Given the description of an element on the screen output the (x, y) to click on. 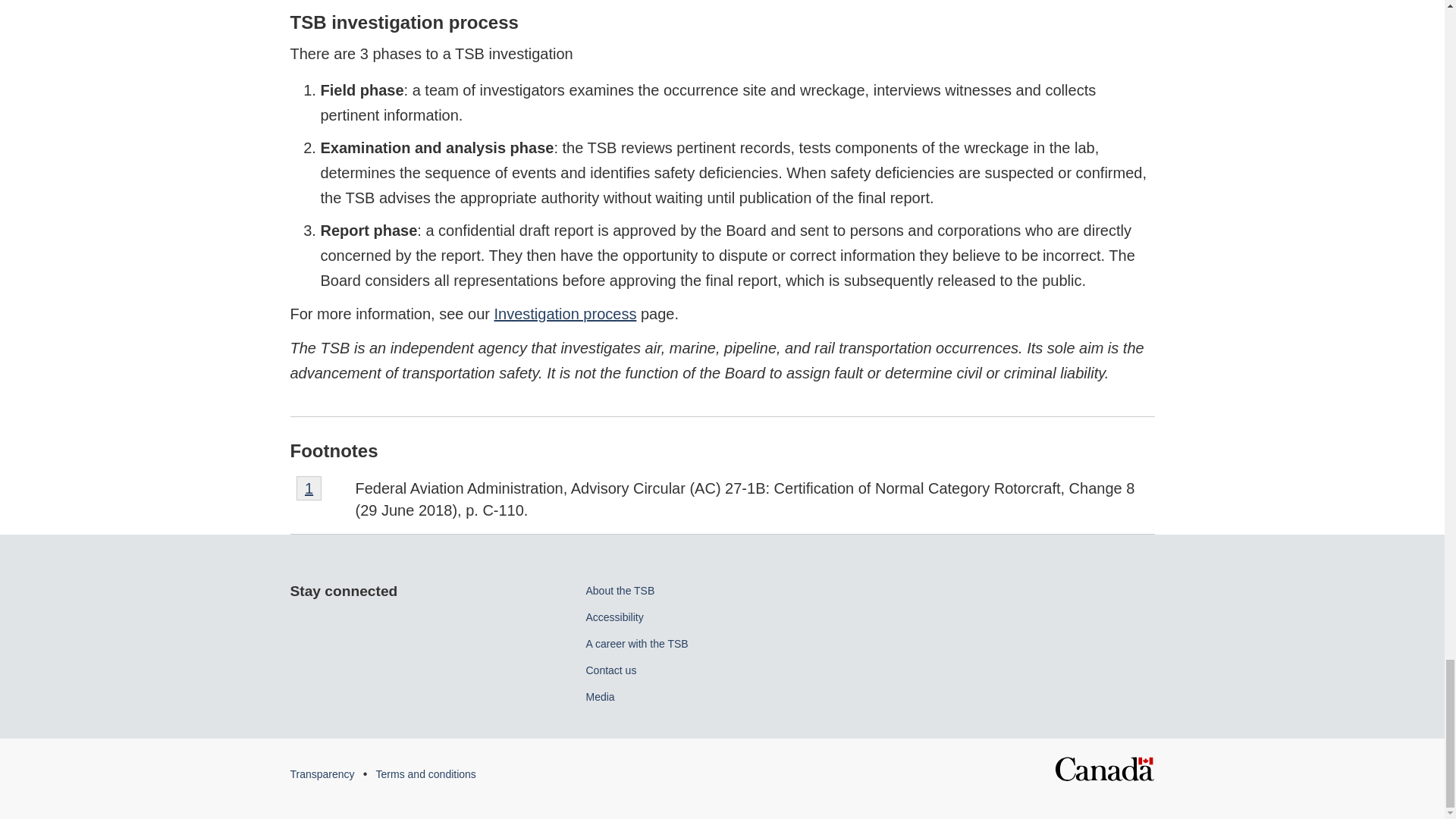
Terms and conditions (425, 774)
Media (599, 696)
Contact us (610, 670)
Investigation process (309, 487)
A career with the TSB (566, 313)
Link to the Government of Canada website (636, 644)
Transparency (1104, 764)
About the TSB (321, 774)
Accessibility (619, 590)
